Given the description of an element on the screen output the (x, y) to click on. 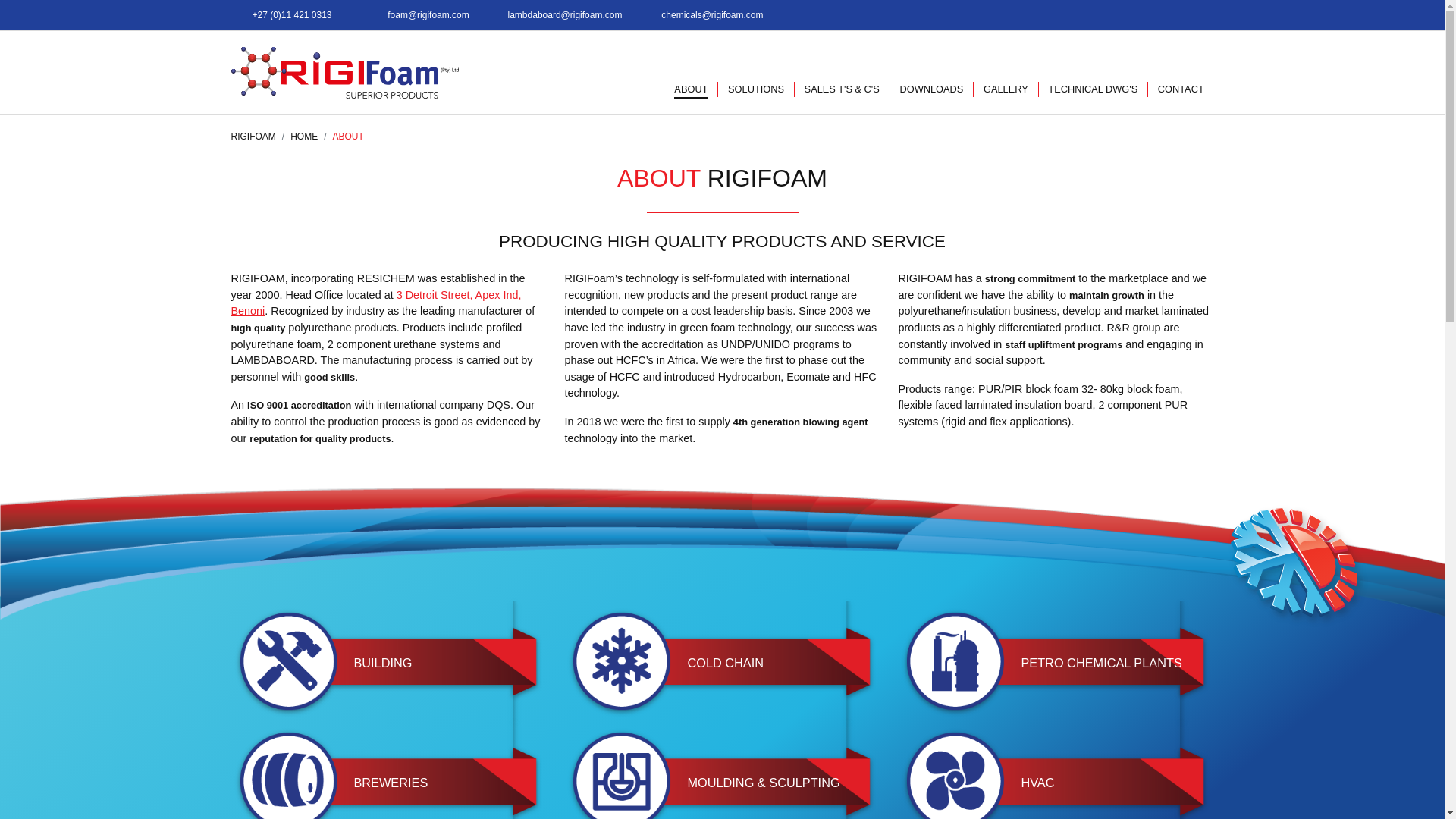
HOME (303, 136)
CONTACT (1181, 88)
Email (710, 15)
Telephone (289, 15)
Email (562, 15)
ABOUT (692, 88)
GALLERY (1006, 88)
TECHNICAL DWG'S (1093, 88)
Email (425, 15)
SOLUTIONS (755, 88)
3 Detroit Street, Apex Ind, Benoni (375, 303)
RIGIFOAM (252, 136)
DOWNLOADS (931, 88)
